Given the description of an element on the screen output the (x, y) to click on. 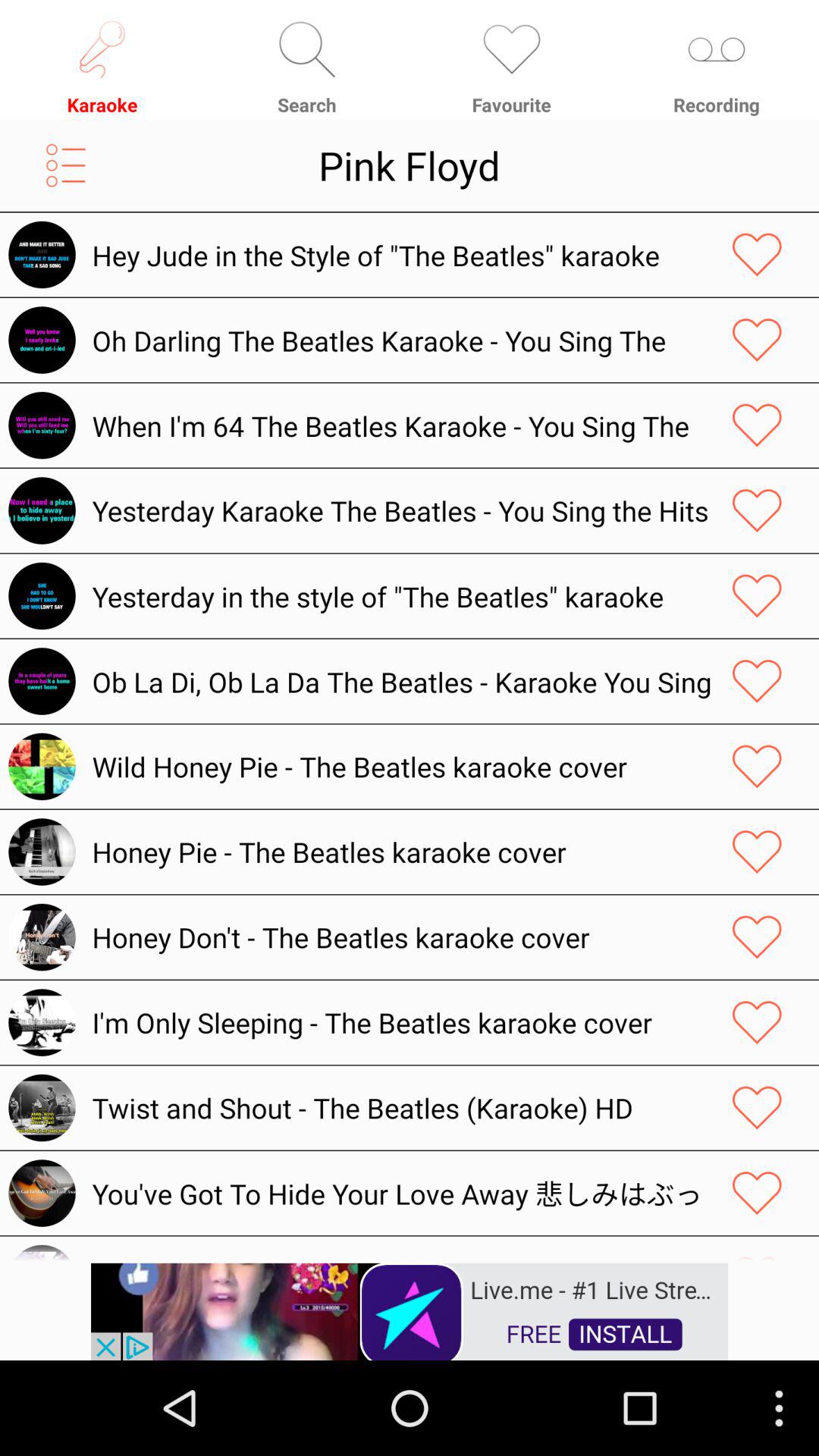
like to music (756, 595)
